Given the description of an element on the screen output the (x, y) to click on. 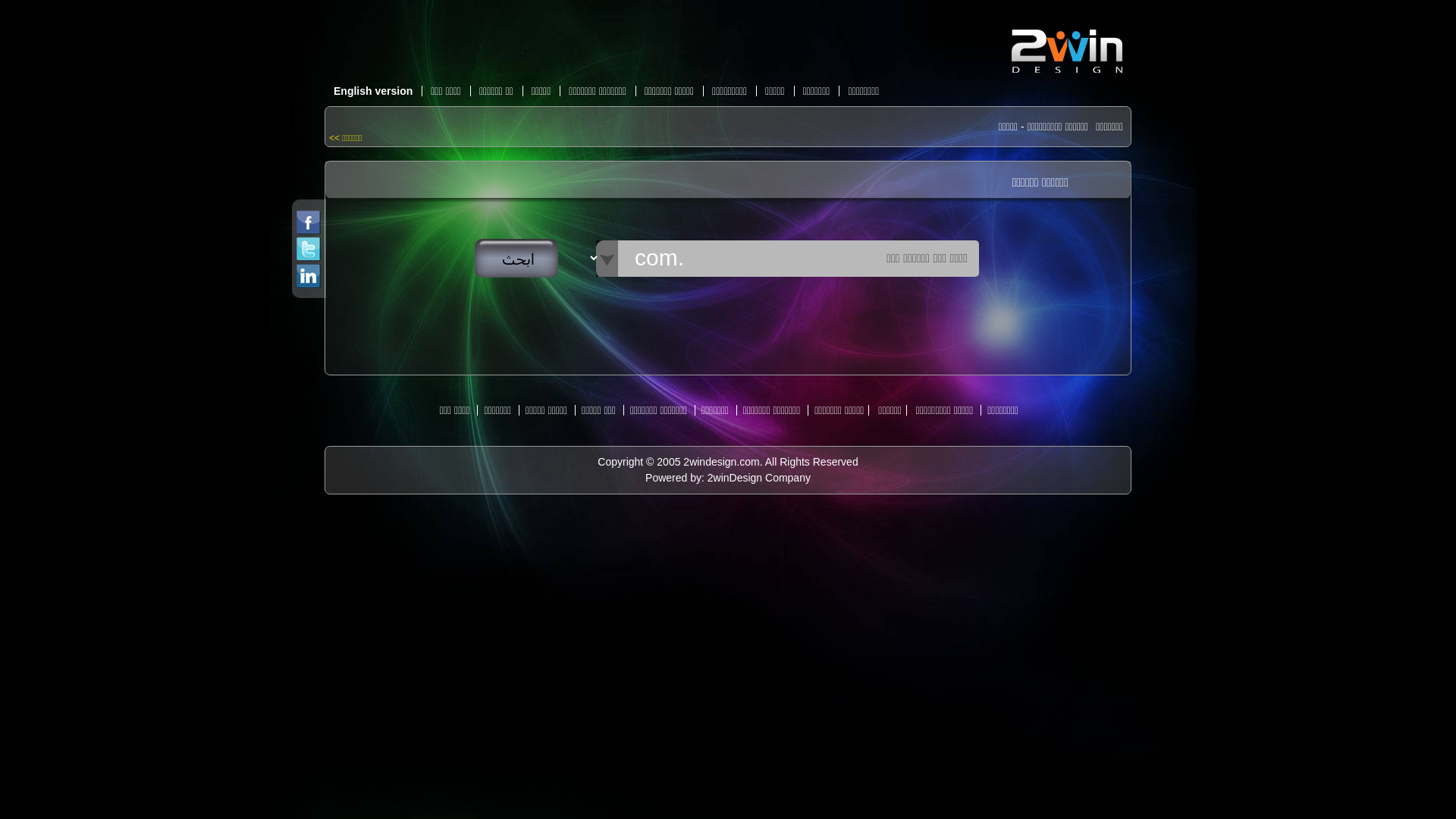
English version Element type: text (372, 90)
2winDesign Company Element type: text (758, 477)
